Given the description of an element on the screen output the (x, y) to click on. 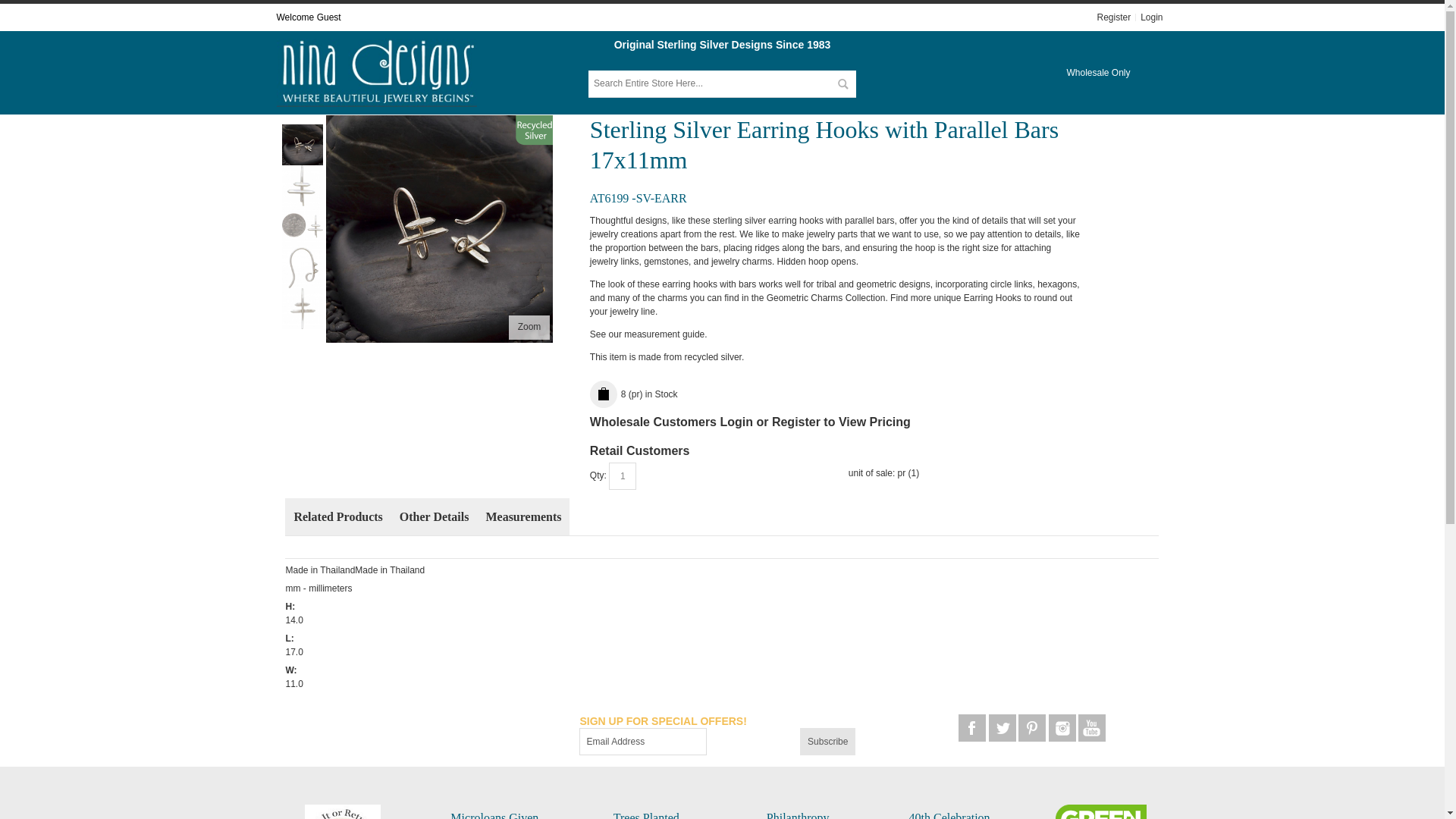
 Sterling Silver Earring Hooks with Parallel Bars 17x11mm (439, 229)
Sterling Silver Earring Hooks with Parallel Bars 17x11mm (302, 253)
1 (622, 475)
8 left (649, 393)
Register (1114, 17)
Login (1151, 17)
Sterling Silver Earring Hooks with Parallel Bars 17x11mm (529, 327)
Qty (622, 475)
Sterling Silver Earring Hooks with Parallel Bars 17x11mm (302, 172)
